Given the description of an element on the screen output the (x, y) to click on. 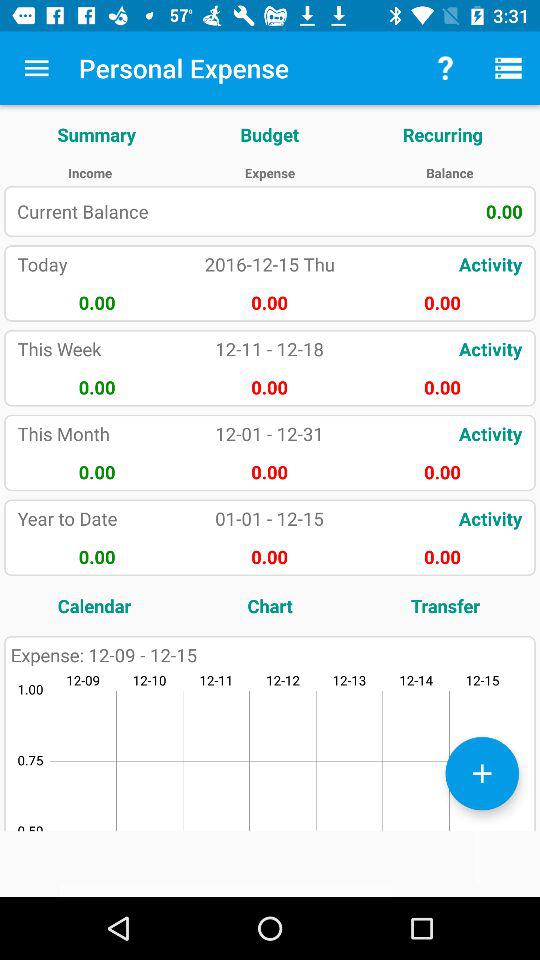
click app below personal expense app (269, 134)
